Given the description of an element on the screen output the (x, y) to click on. 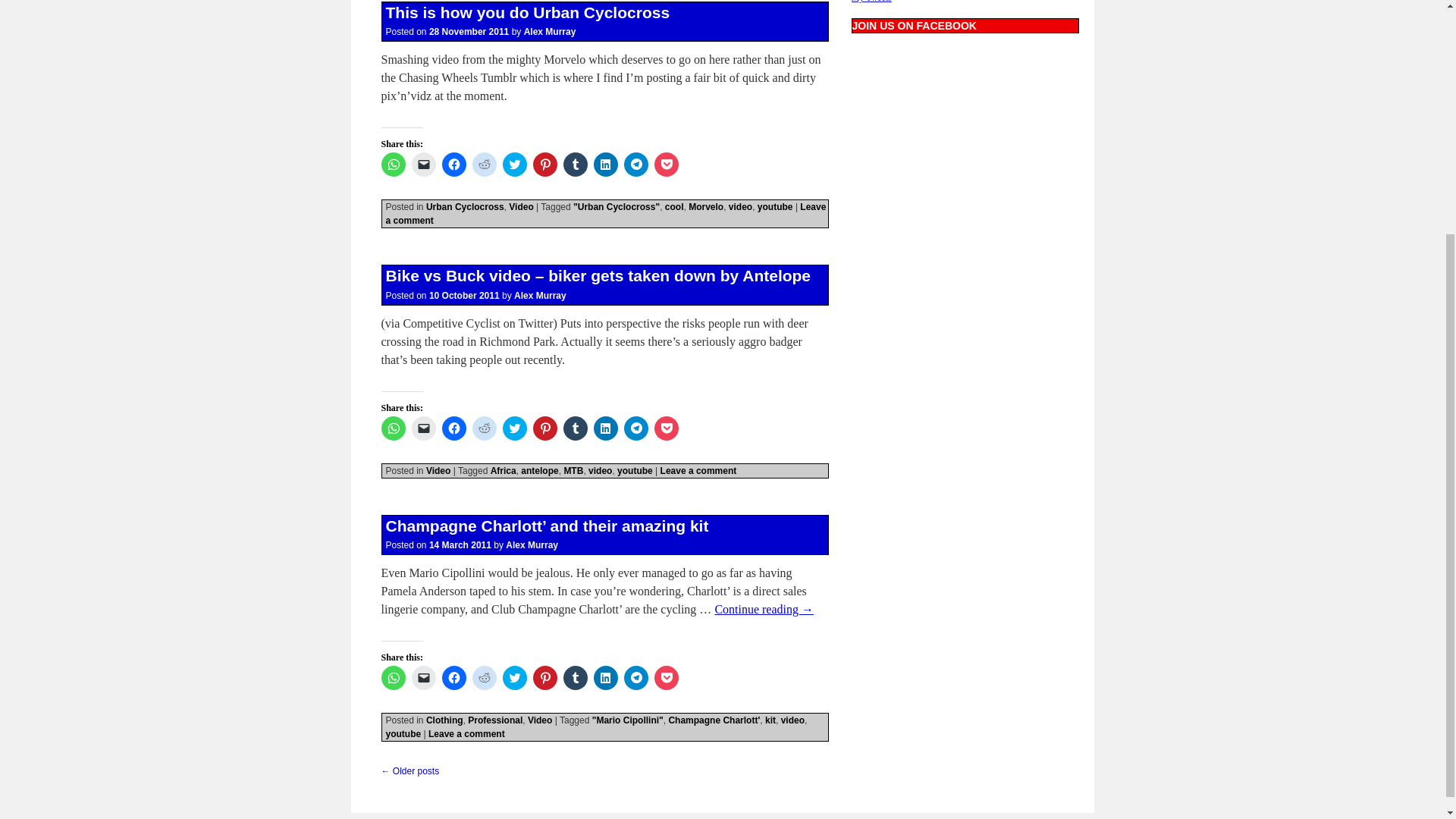
Click to share on WhatsApp (392, 164)
Alex Murray (539, 295)
View all posts by Alex Murray (550, 31)
Urban Cyclocross (464, 206)
youtube (775, 206)
09:43 (468, 31)
Leave a comment (605, 213)
Click to share on Reddit (483, 164)
"Urban Cyclocross" (616, 206)
Alex Murray (550, 31)
